Given the description of an element on the screen output the (x, y) to click on. 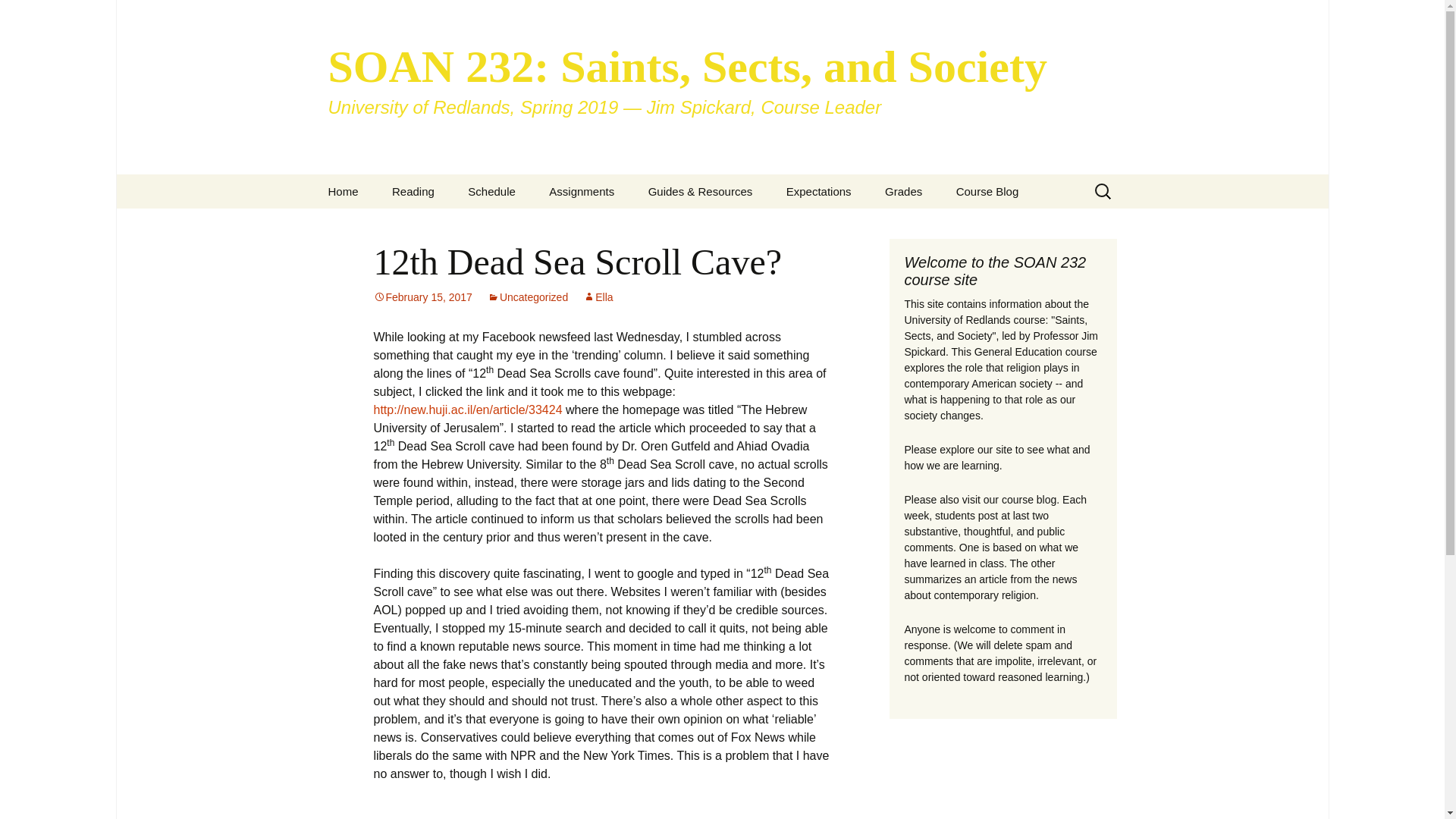
About Blog Posts (708, 225)
View all posts by Ella (597, 297)
Reading (413, 191)
Uncategorized (527, 297)
How I Grade Course Participation (945, 230)
Assignments (581, 191)
Search (18, 15)
Expectations (818, 191)
Course Blog (986, 191)
Grades (903, 191)
Permalink to 12th Dead Sea Scroll Cave? (421, 297)
Books (452, 225)
Schedule (491, 191)
February 15, 2017 (421, 297)
